Given the description of an element on the screen output the (x, y) to click on. 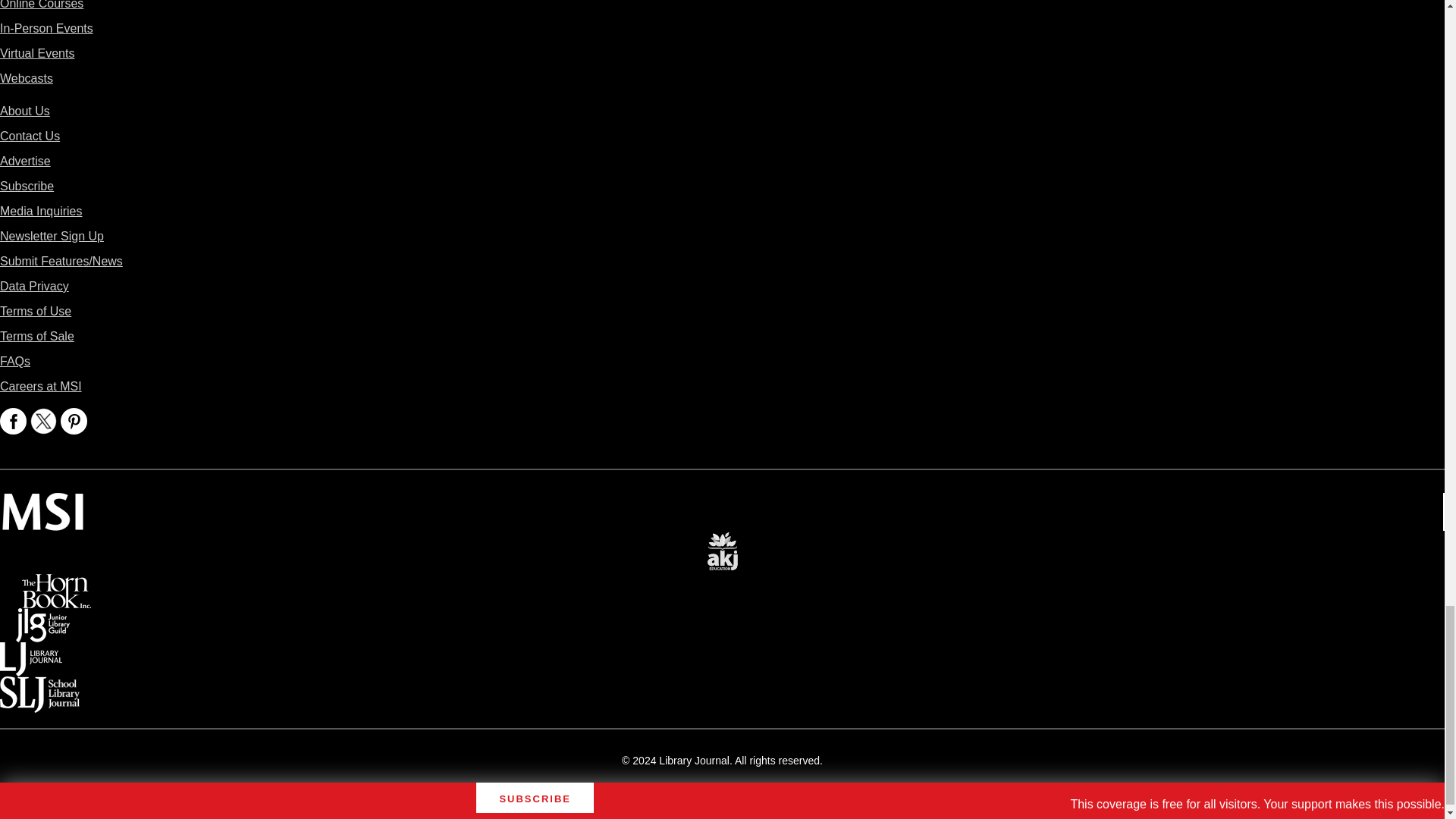
AKJ (722, 540)
Media Source Incorporated (42, 503)
School Library Journal (40, 686)
The Horn Book (56, 584)
Junior Library Guild (42, 618)
